Given the description of an element on the screen output the (x, y) to click on. 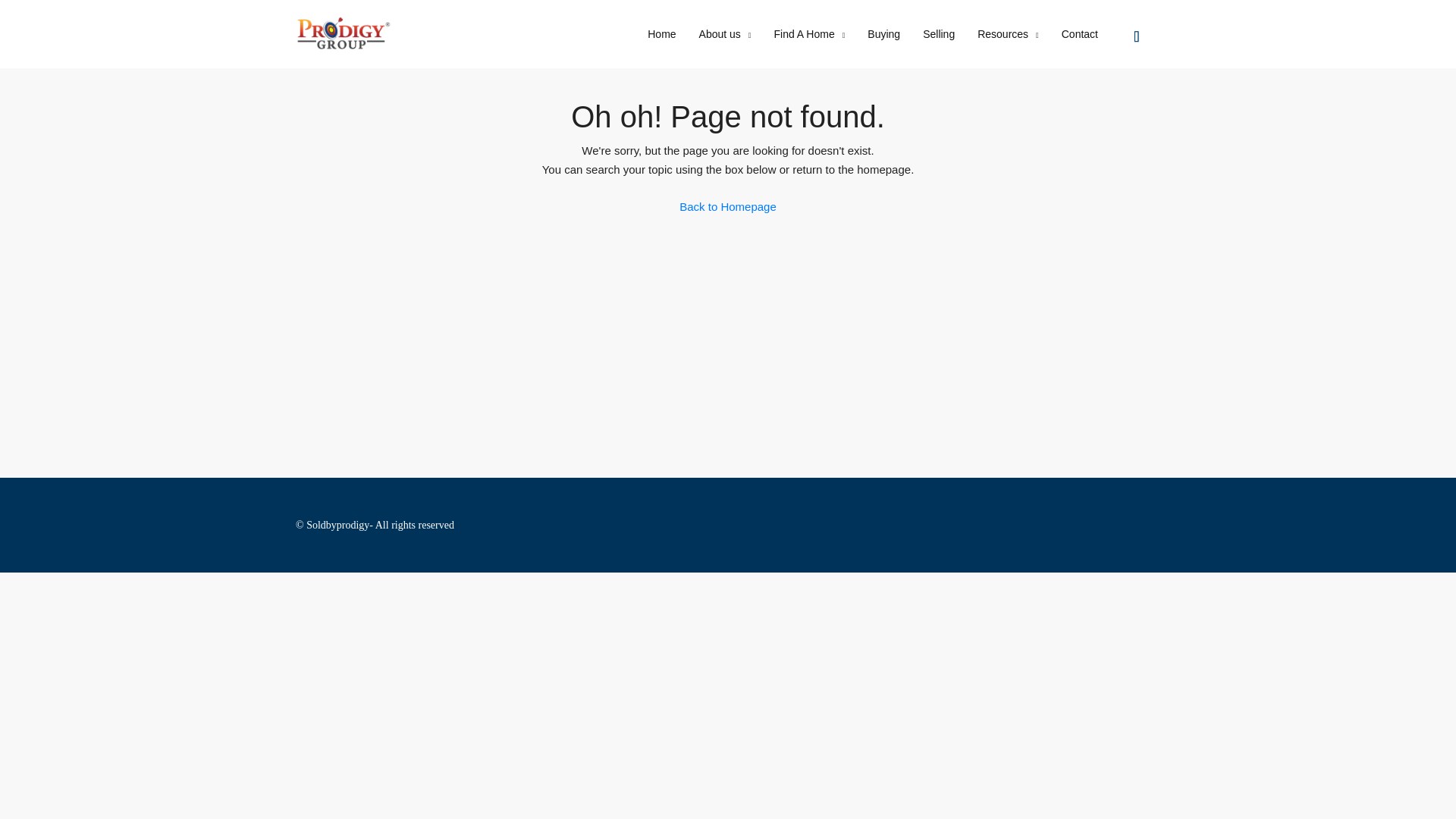
Find A Home (809, 34)
About us (724, 34)
Resources (1007, 34)
